Given the description of an element on the screen output the (x, y) to click on. 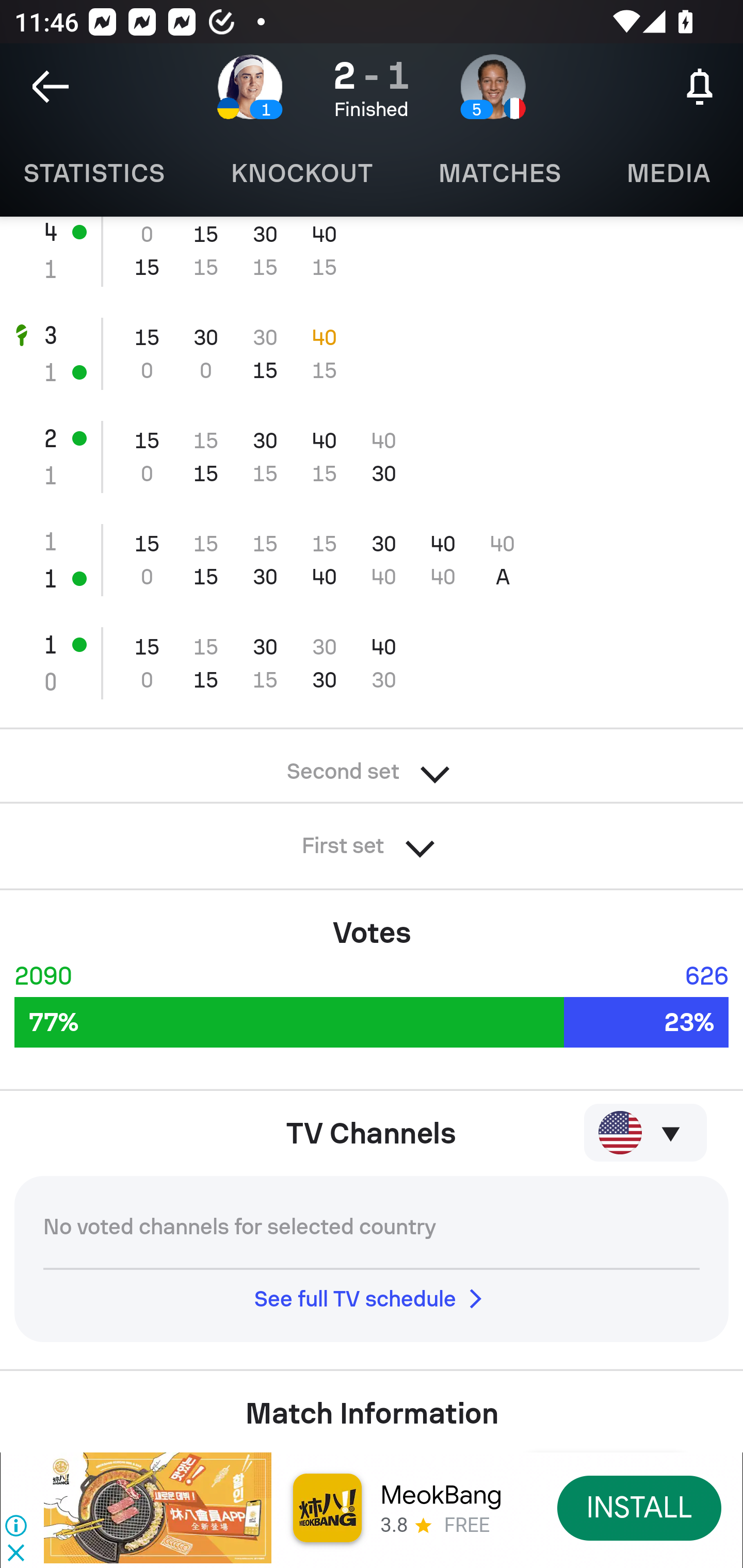
Navigate up (50, 86)
Statistics STATISTICS (98, 173)
Knockout KNOCKOUT (300, 173)
Matches MATCHES (498, 173)
Media MEDIA (668, 173)
4 0 15 30 40 1 15 15 15 15 (371, 259)
3 15 30 30 40 1 0 0 15 15 (371, 354)
2 15 15 30 40 40 1 0 15 15 15 30 (371, 457)
1 15 15 15 15 30 40 40 1 0 15 30 40 40 40 A (371, 559)
1 15 15 30 30 40 0 0 15 15 30 30 (371, 663)
Second set (371, 765)
First set (371, 839)
See full TV schedule (371, 1299)
INSTALL (639, 1507)
MeokBang (440, 1494)
